Given the description of an element on the screen output the (x, y) to click on. 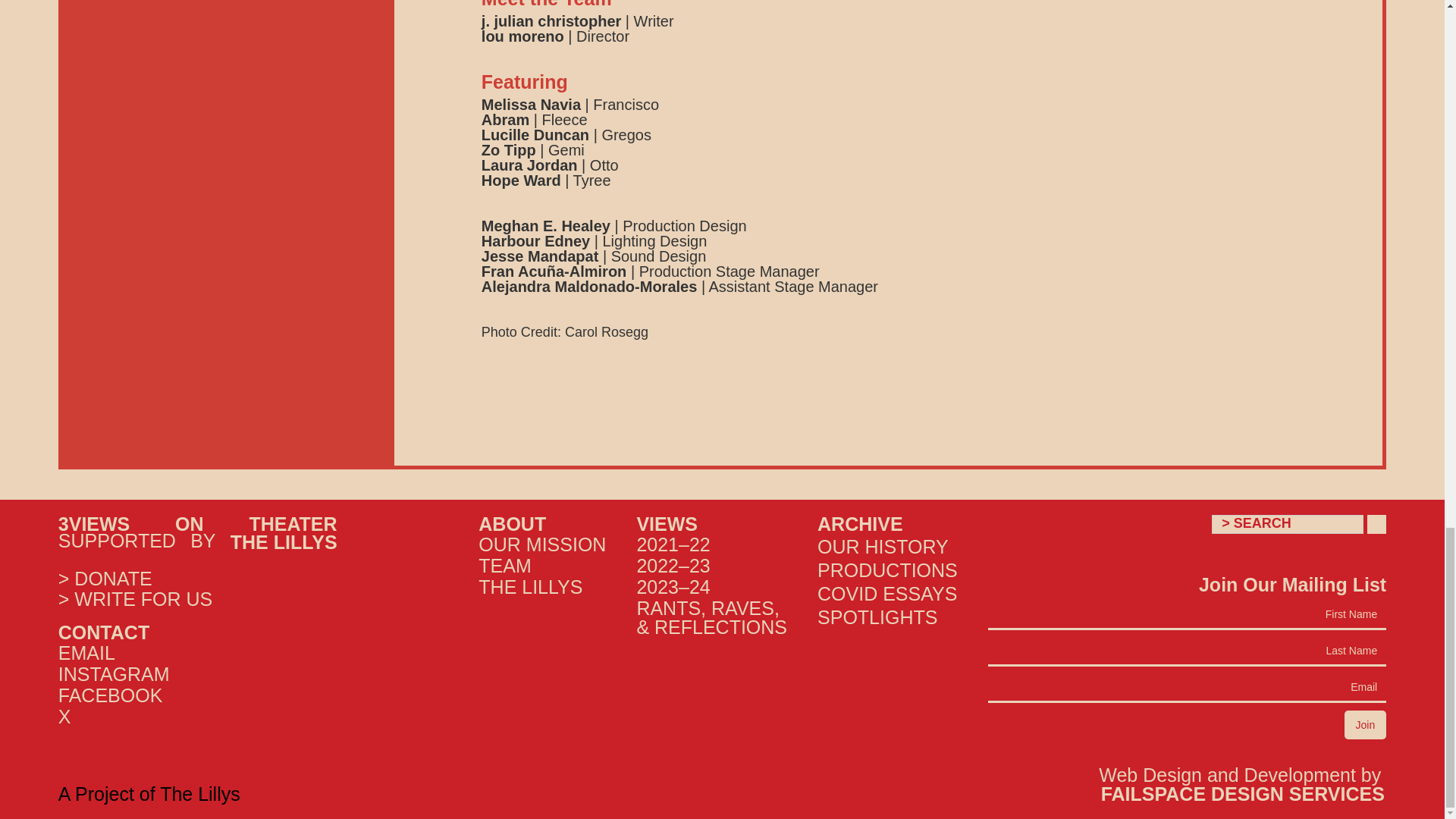
PRODUCTIONS (887, 568)
Join (1365, 724)
SPOTLIGHTS (887, 616)
OUR MISSION (542, 544)
THE LILLYS (283, 541)
Join (1365, 724)
THE LILLYS (530, 586)
FACEBOOK (110, 694)
COVID ESSAYS (887, 592)
EMAIL (86, 652)
